Given the description of an element on the screen output the (x, y) to click on. 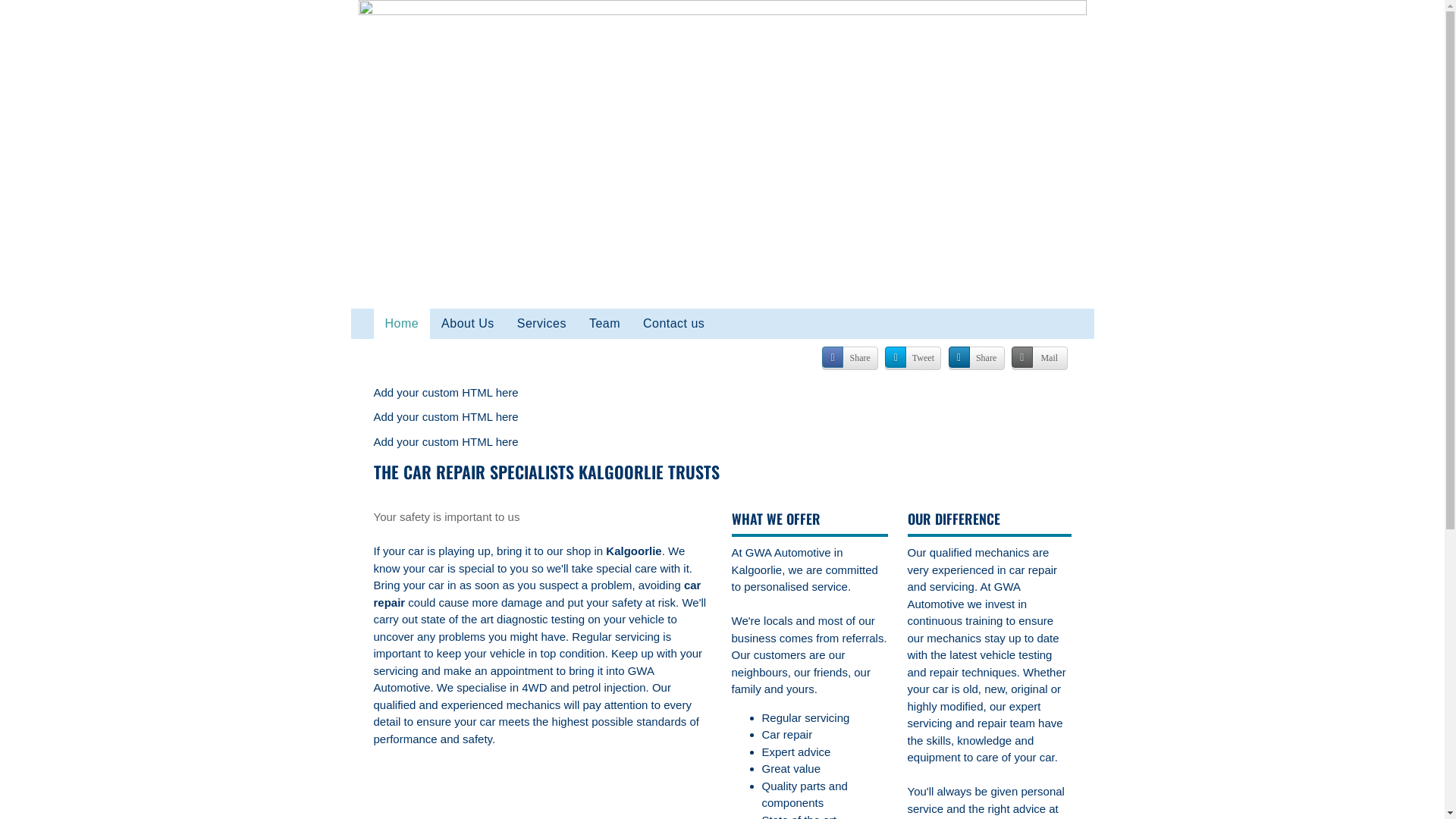
Services Element type: text (541, 323)
About Us Element type: text (467, 323)
Contact us Element type: text (673, 323)
Team Element type: text (604, 323)
Home Element type: text (401, 323)
